Given the description of an element on the screen output the (x, y) to click on. 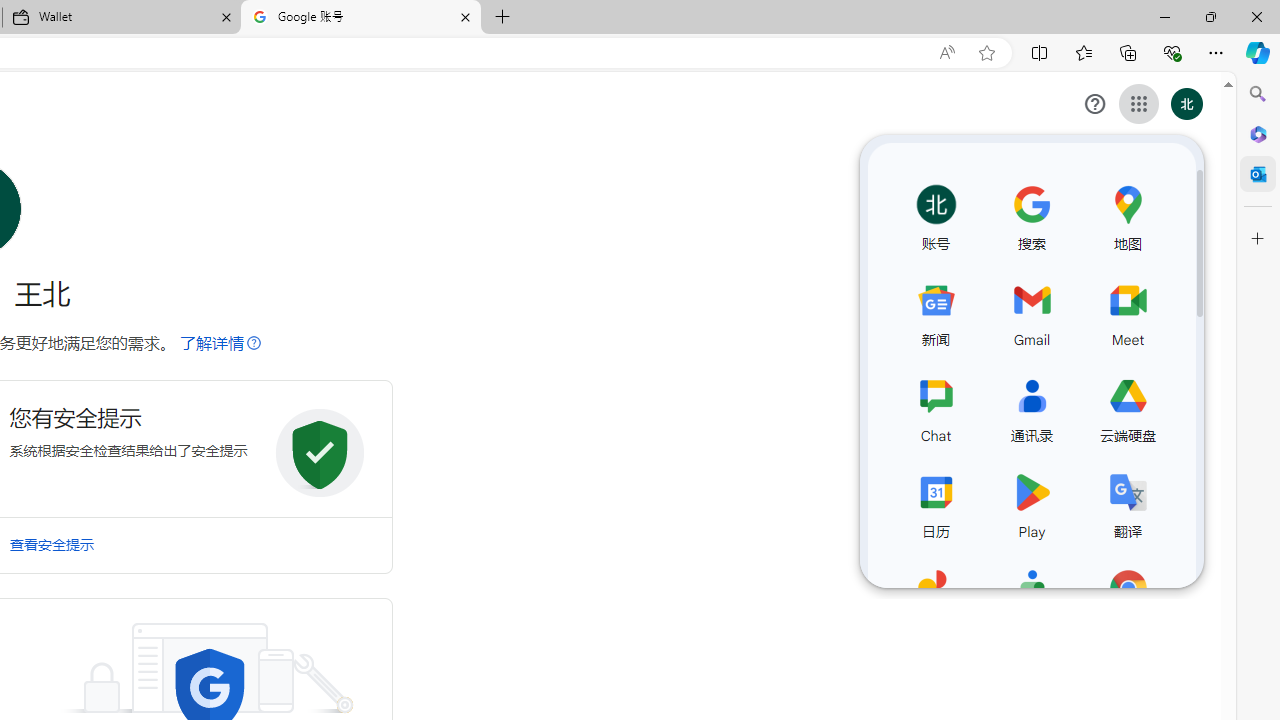
Gmail (1032, 310)
Meet (1128, 310)
Chrome (1128, 598)
